Given the description of an element on the screen output the (x, y) to click on. 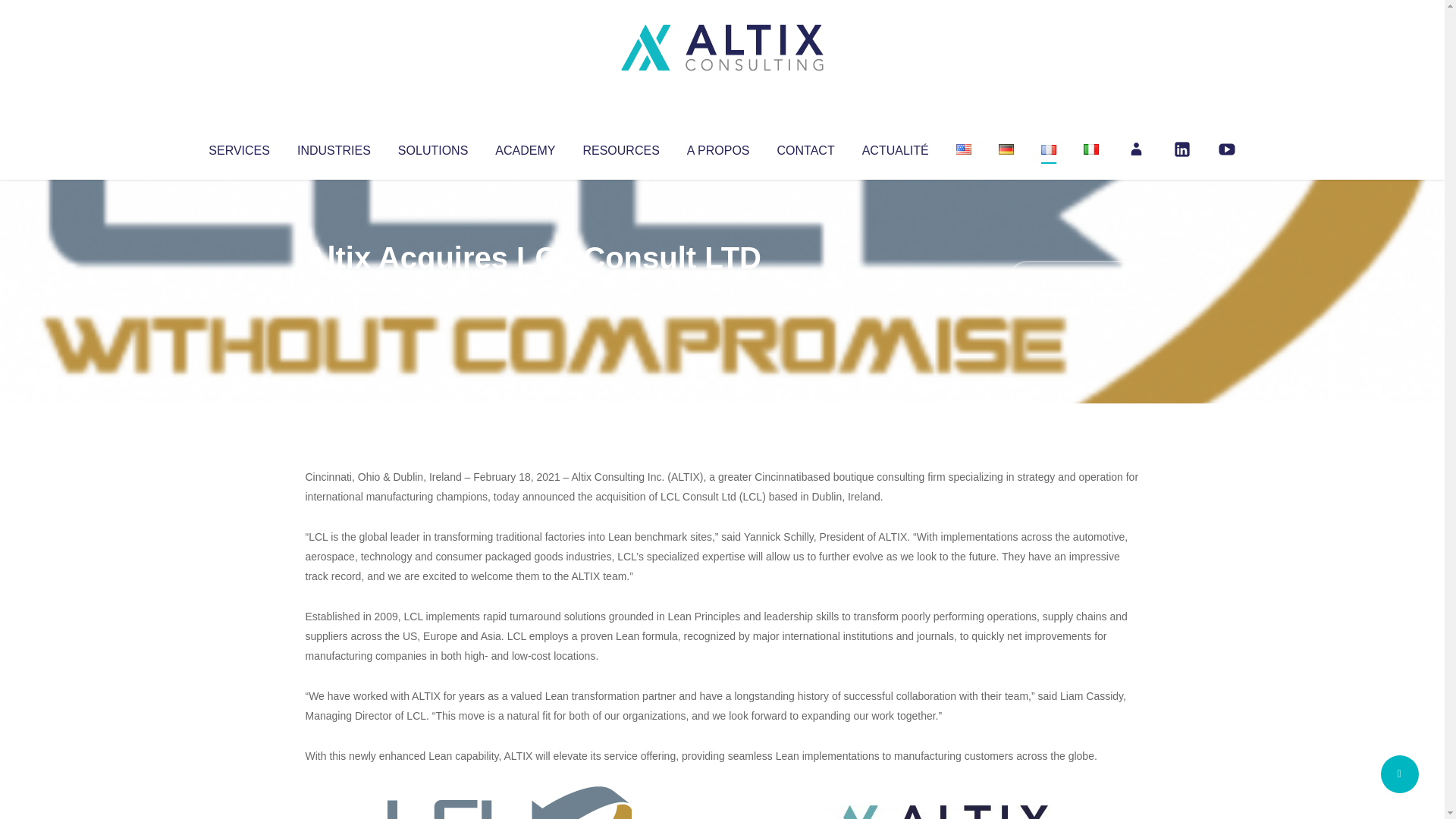
No Comments (1073, 278)
Altix (333, 287)
Articles par Altix (333, 287)
SOLUTIONS (432, 146)
RESOURCES (620, 146)
A PROPOS (718, 146)
ACADEMY (524, 146)
INDUSTRIES (334, 146)
Uncategorized (530, 287)
SERVICES (238, 146)
